Given the description of an element on the screen output the (x, y) to click on. 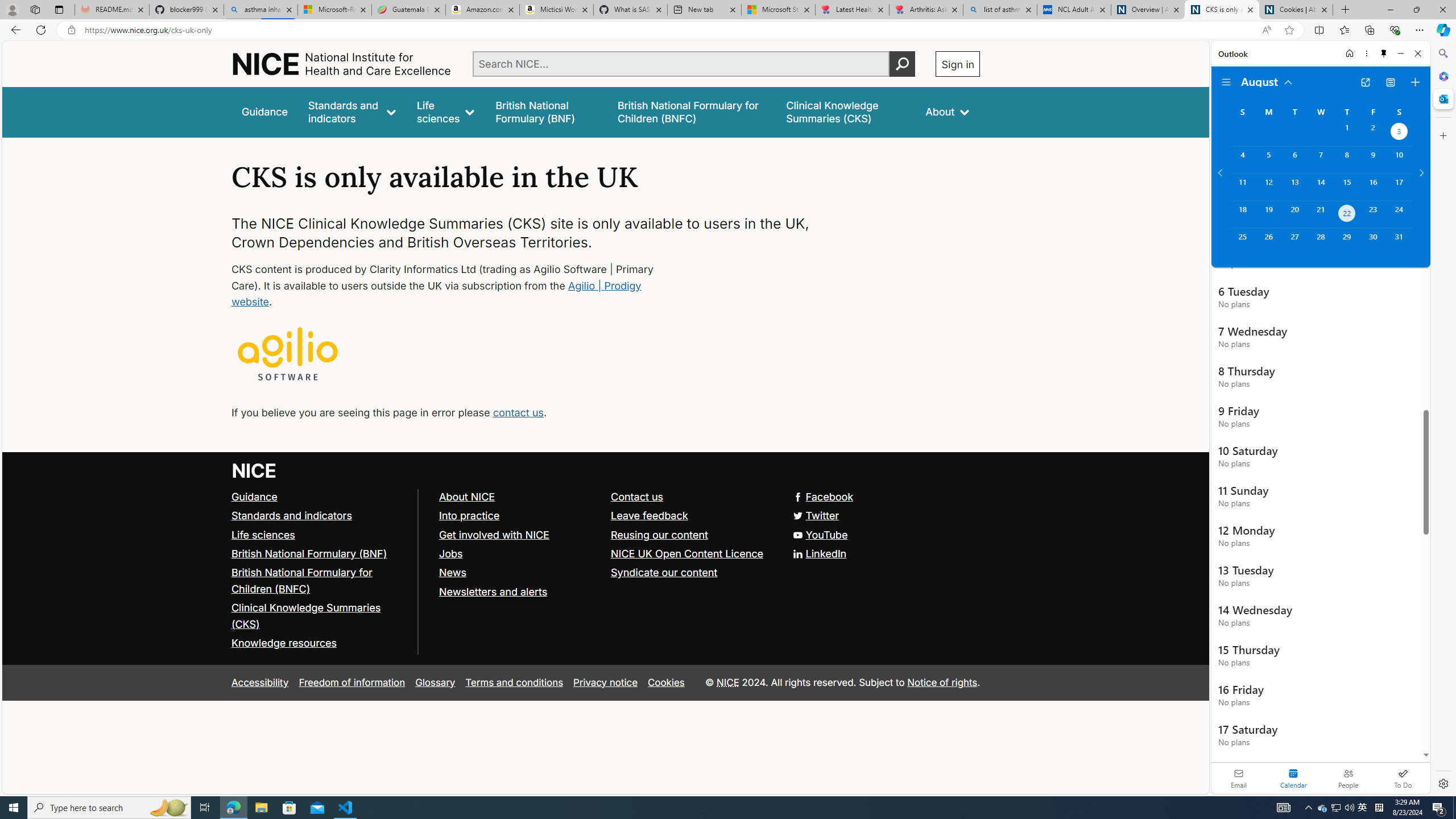
Arthritis: Ask Health Professionals (925, 9)
Friday, August 23, 2024.  (1372, 214)
Sunday, August 18, 2024.  (1242, 214)
Wednesday, August 14, 2024.  (1320, 186)
NICE UK Open Content Licence (687, 553)
Life sciences (319, 534)
View Switcher. Current view is Agenda view (1390, 82)
Cookies (665, 682)
British National Formulary for Children (BNFC) (301, 579)
Accessibility (259, 682)
Terms and conditions (514, 682)
Sunday, August 11, 2024.  (1242, 186)
Saturday, August 31, 2024.  (1399, 241)
